Given the description of an element on the screen output the (x, y) to click on. 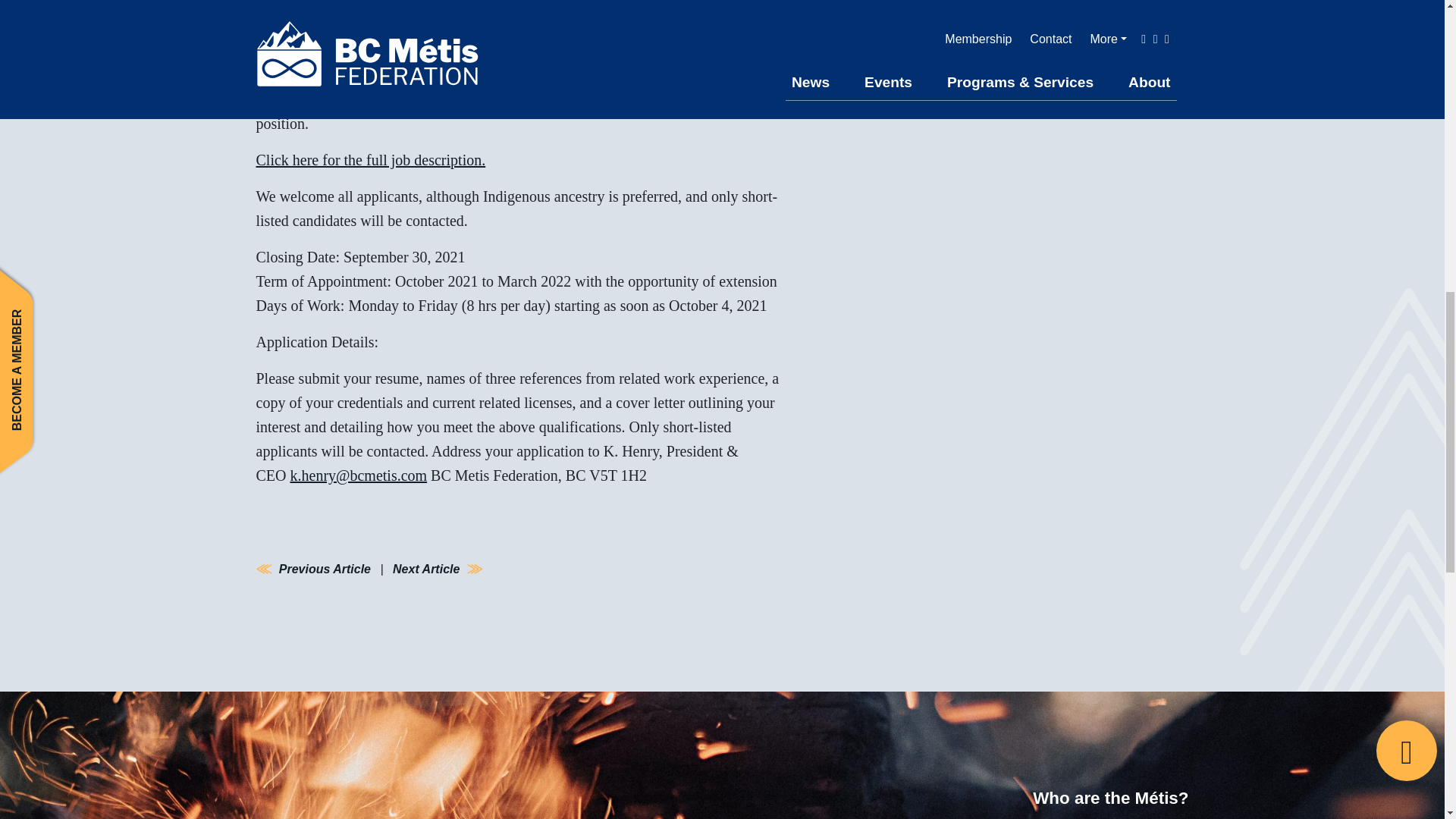
Next Article (426, 569)
Previous Article (325, 569)
Click here for the full job description. (371, 159)
